Given the description of an element on the screen output the (x, y) to click on. 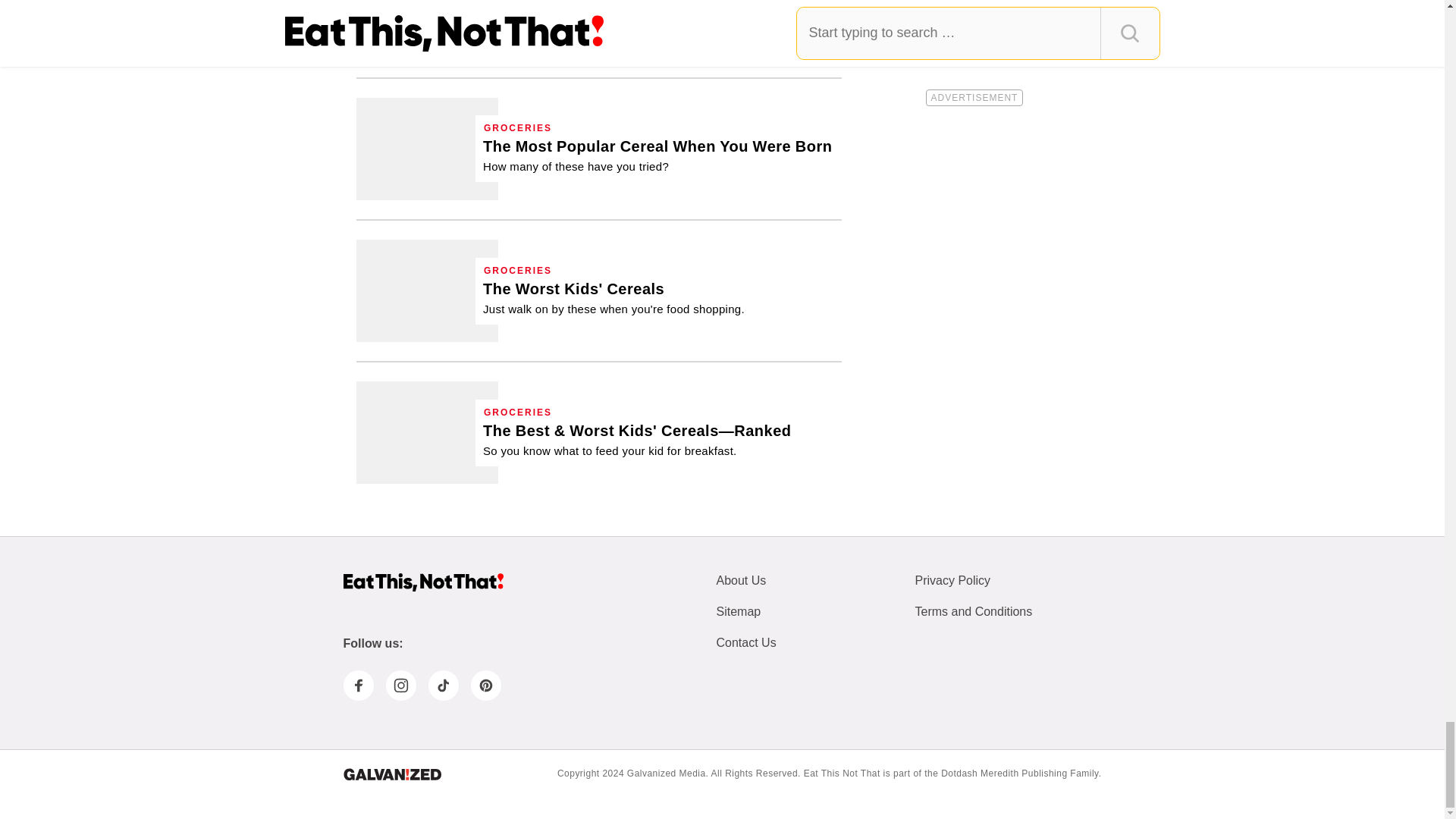
25 Discontinued Cereals That Deserve a Comeback (426, 28)
14 Kids' Cereals You Always Leave on Grocery Store Shelves (426, 290)
25 Discontinued Cereals That Deserve a Comeback (649, 16)
14 Kids' Cereals You Always Leave on Grocery Store Shelves (613, 297)
The Most Popular Cereal the Year You Were Born (426, 148)
The Most Popular Cereal the Year You Were Born (657, 155)
